Given the description of an element on the screen output the (x, y) to click on. 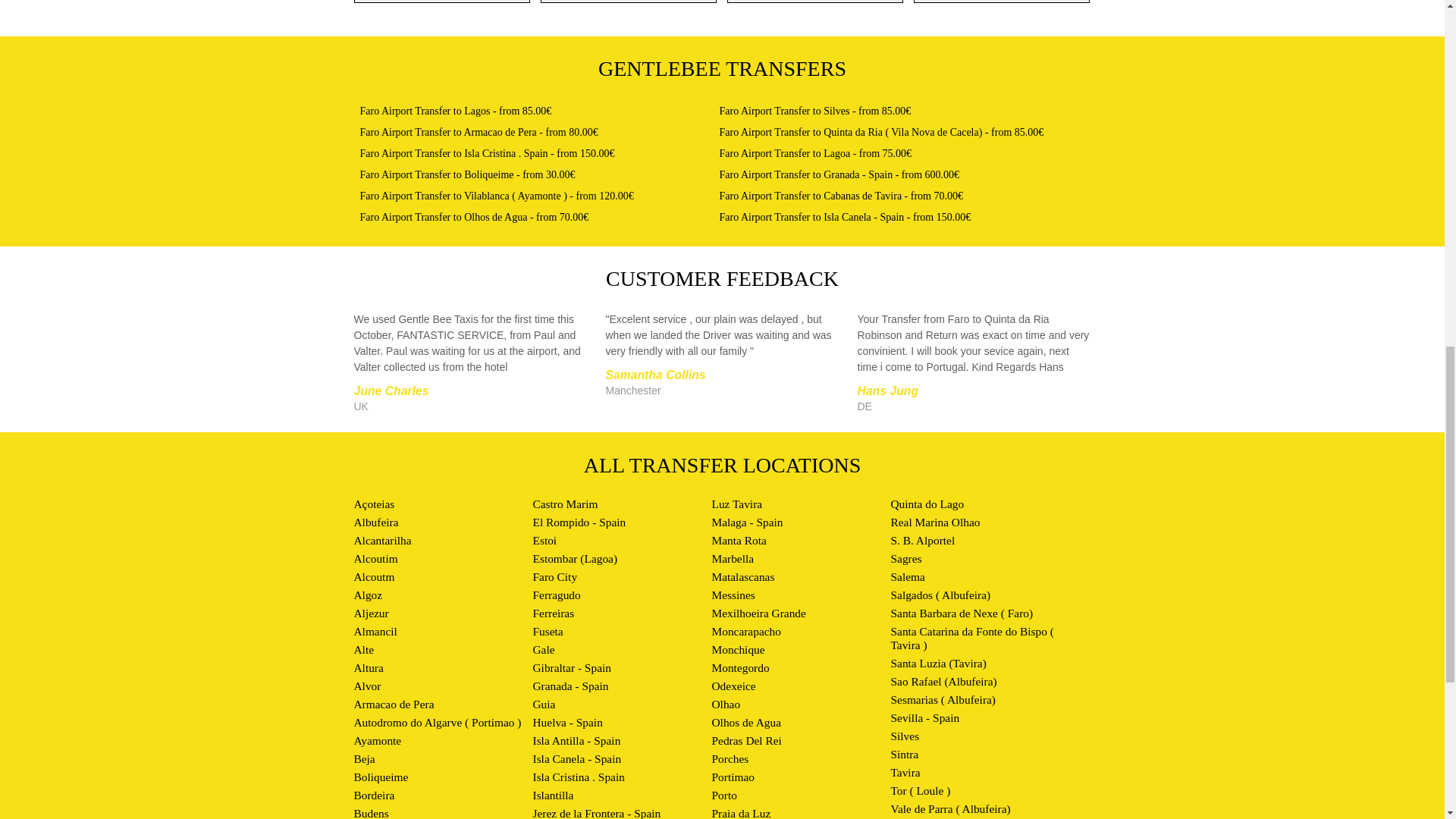
Click here to book (473, 216)
Click here to book (815, 153)
Click here to book (467, 174)
Alcoutm (373, 576)
know more about Albufeira (375, 521)
Aljezur (370, 612)
Alcantarilha (381, 540)
Alte (363, 649)
Algoz (367, 594)
Almancil (374, 631)
